Given the description of an element on the screen output the (x, y) to click on. 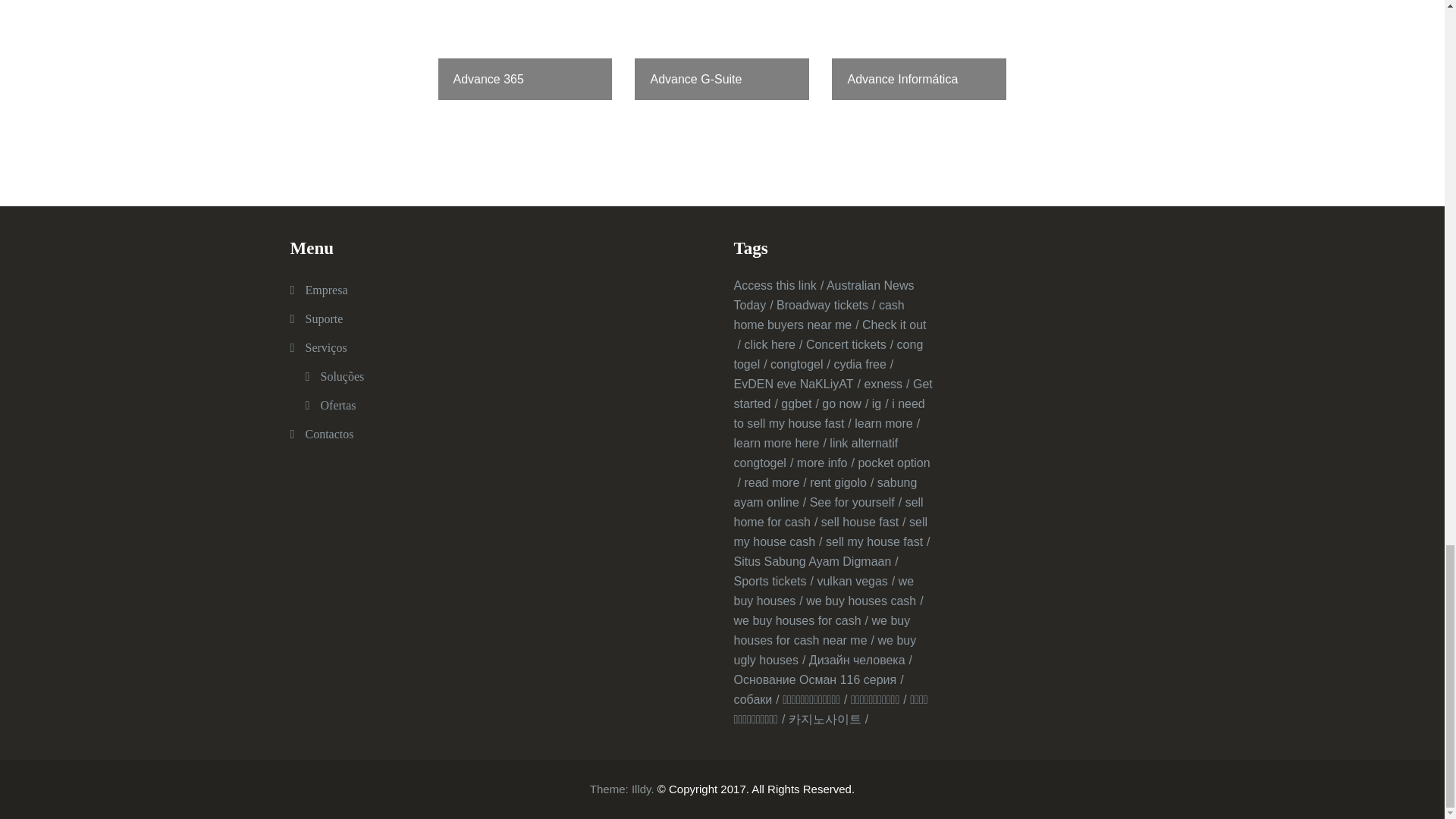
Ofertas (337, 404)
cong togel (828, 354)
Contactos (328, 433)
Access this link (778, 285)
Check it out (829, 334)
Australian News Today (823, 295)
Advance 365 (525, 49)
Advance G-Suite (721, 49)
Advance 365 (525, 49)
Illdy (640, 788)
Empresa (325, 289)
EvDEN eve NaKLiyAT (796, 383)
Advance G-Suite (721, 49)
exness (885, 383)
cash home buyers near me (818, 314)
